Given the description of an element on the screen output the (x, y) to click on. 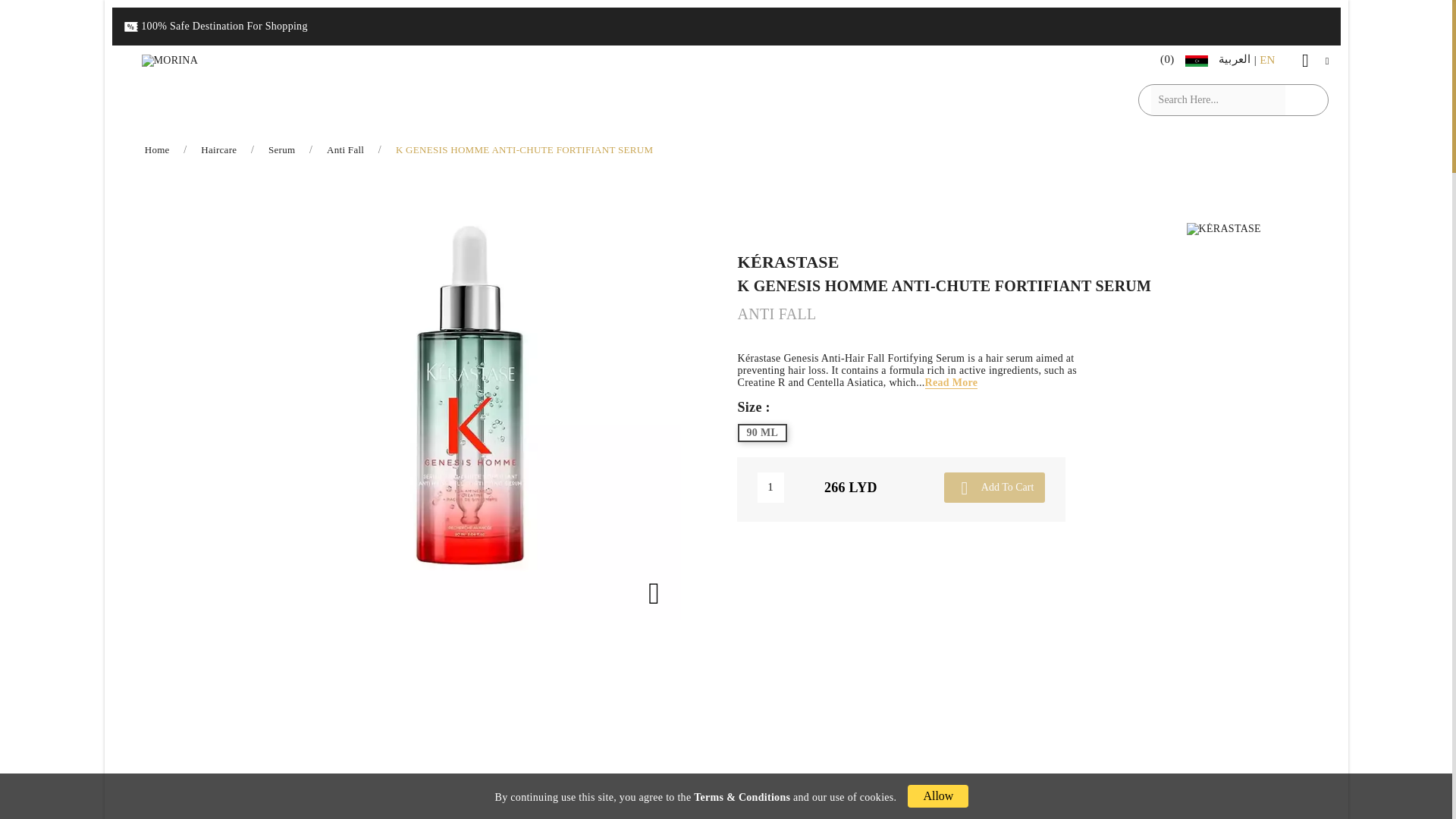
Haircare (220, 149)
EN (1267, 59)
K GENESIS HOMME ANTI-CHUTE FORTIFIANT SERUM (524, 149)
EN (1267, 59)
Read More (951, 382)
Home (158, 149)
Anti Fall (346, 149)
Cart (1151, 59)
Allow (937, 795)
Serum (282, 149)
